Given the description of an element on the screen output the (x, y) to click on. 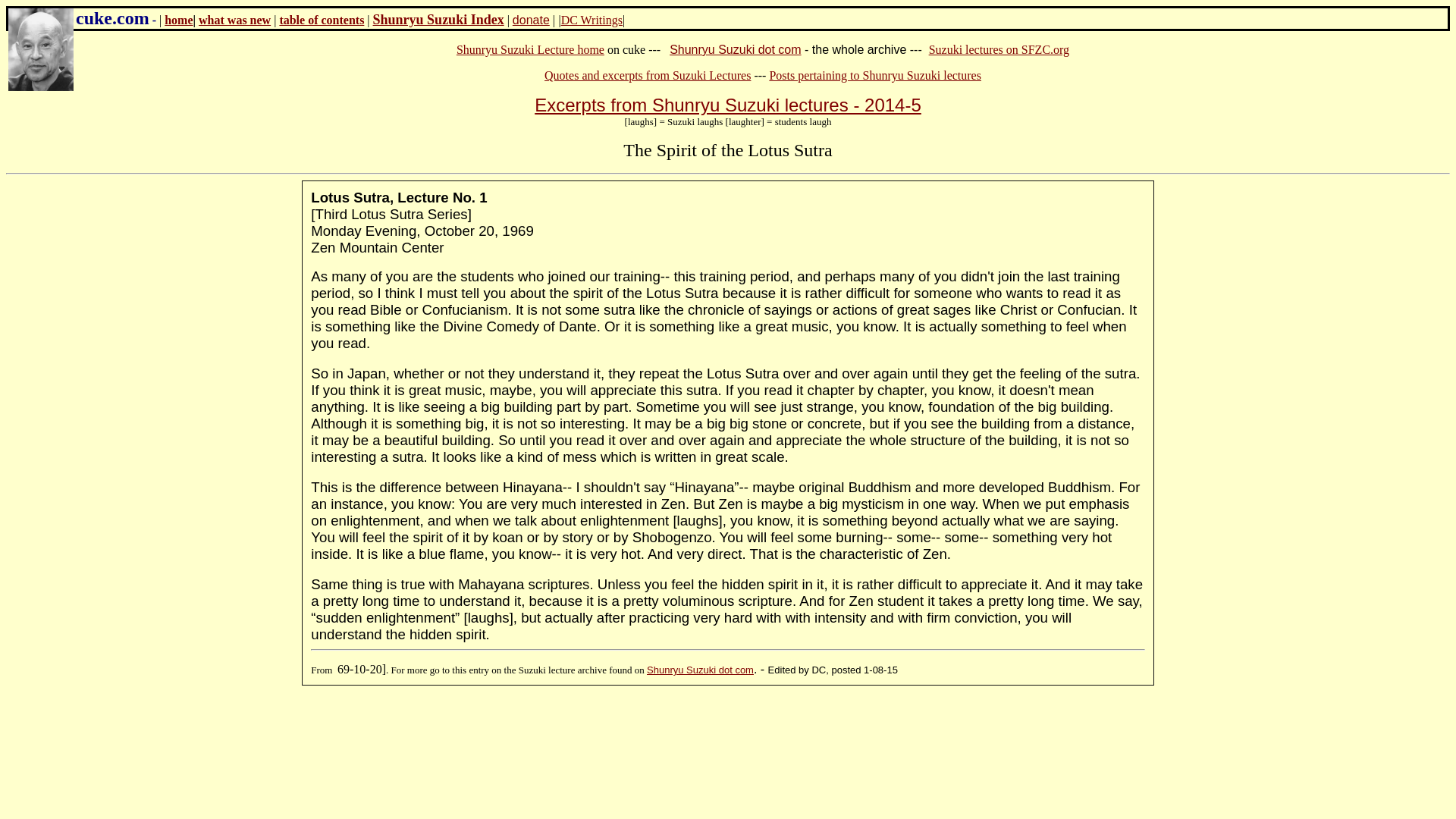
what was new (234, 19)
Excerpts from Shunryu Suzuki lectures - 2014-5 (727, 105)
table of contents (321, 19)
Suzuki lectures on SFZC.org (998, 49)
Quotes and excerpts from Suzuki Lectures (647, 74)
home (178, 19)
Shunryu Suzuki Lecture home (530, 49)
Shunryu Suzuki Index (437, 19)
Shunryu Suzuki dot com (700, 669)
Shunryu Suzuki dot com (734, 49)
donate (531, 19)
DC Writings (591, 19)
Posts pertaining to Shunryu Suzuki lectures (874, 74)
